Given the description of an element on the screen output the (x, y) to click on. 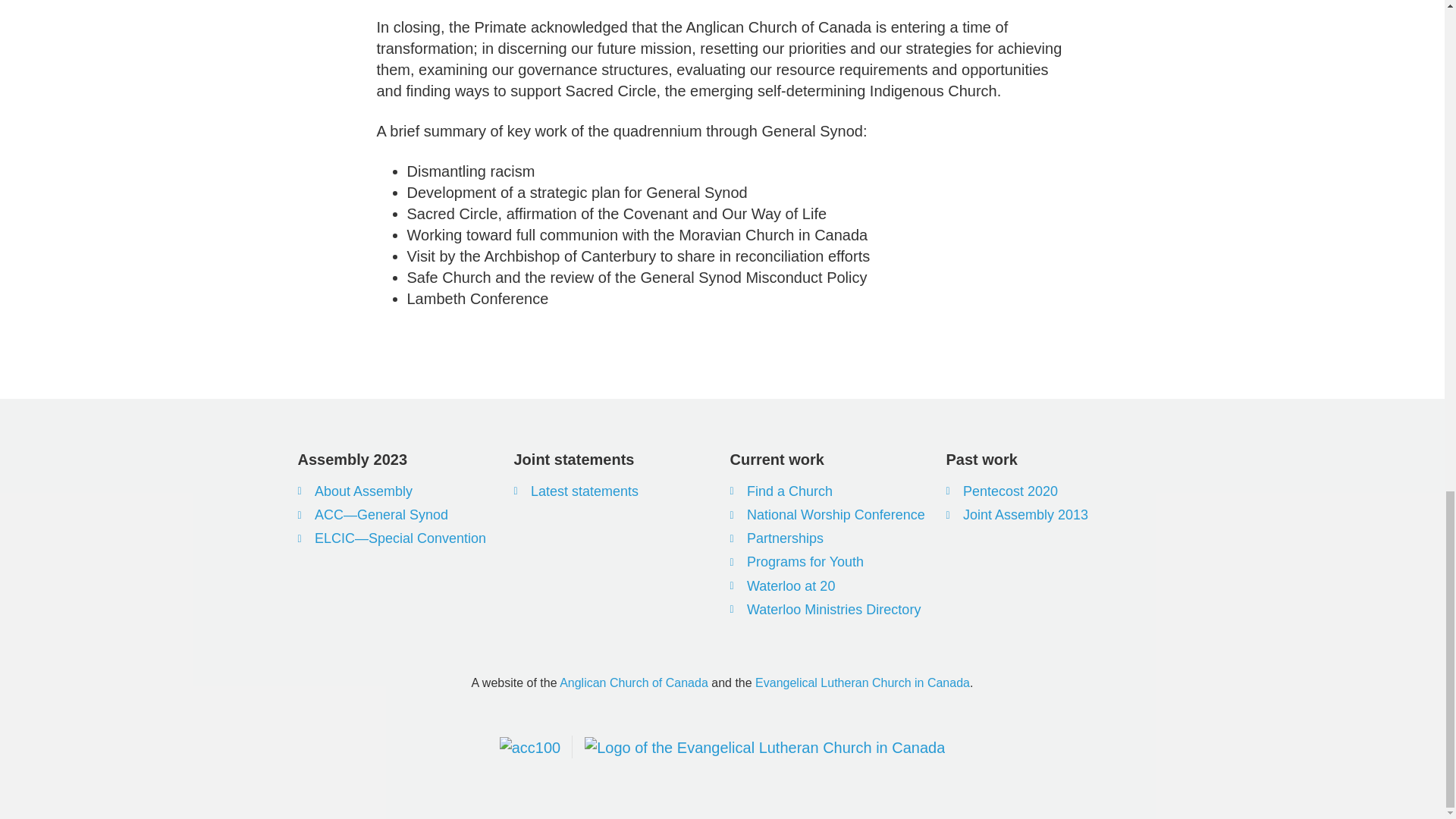
National Worship Conference (829, 515)
elcic100 (764, 747)
Partnerships (829, 538)
Latest statements (613, 491)
acc100 (529, 747)
Waterloo at 20 (829, 586)
Programs for Youth (829, 561)
Waterloo Ministries Directory (829, 609)
Find a Church (829, 491)
About Assembly (397, 491)
